Given the description of an element on the screen output the (x, y) to click on. 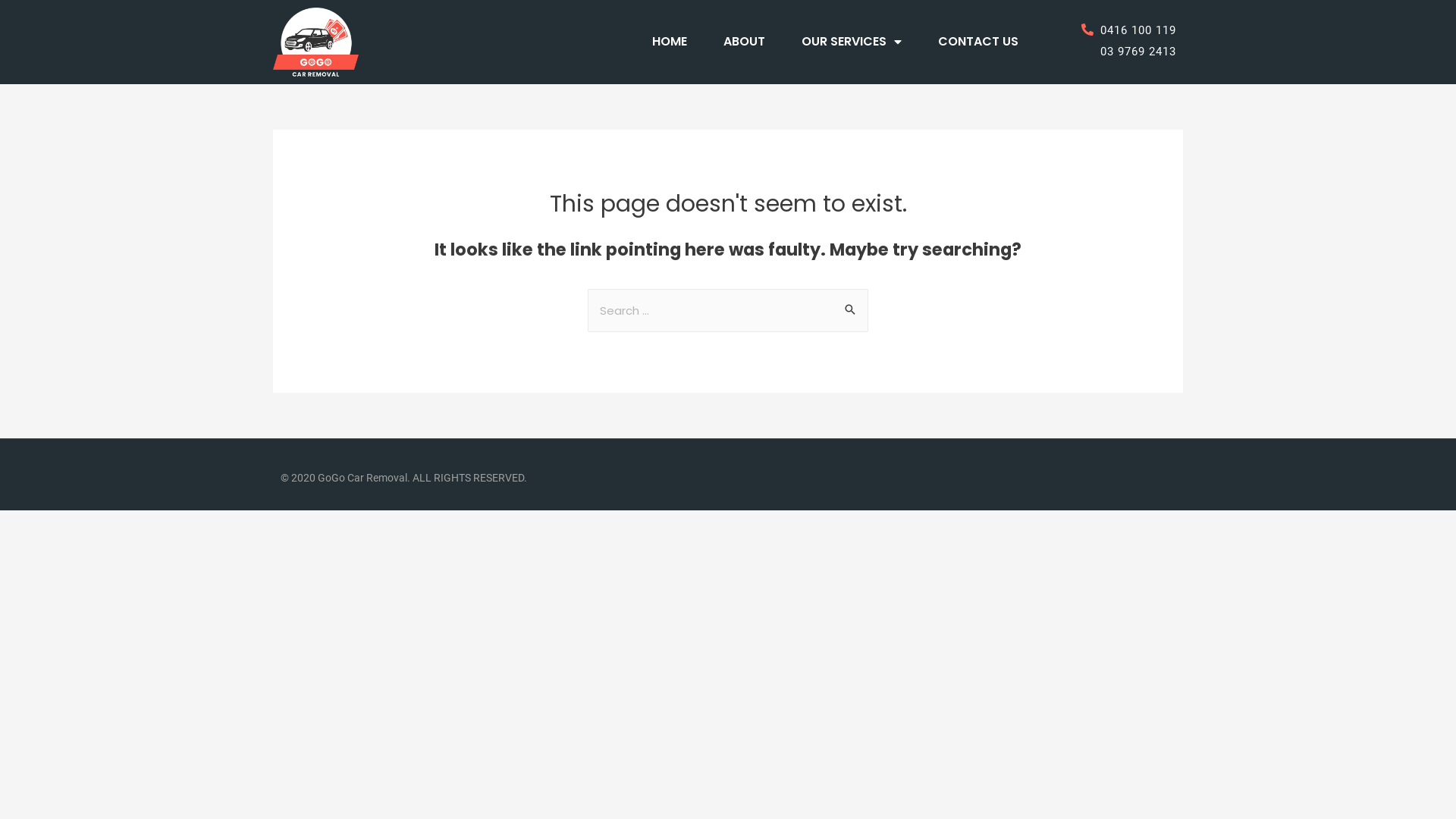
ABOUT Element type: text (744, 41)
HOME Element type: text (669, 41)
OUR SERVICES Element type: text (851, 41)
CONTACT US Element type: text (977, 41)
Search Element type: text (851, 304)
03 9769 2413 Element type: text (1106, 51)
0416 100 119 Element type: text (1106, 30)
